Given the description of an element on the screen output the (x, y) to click on. 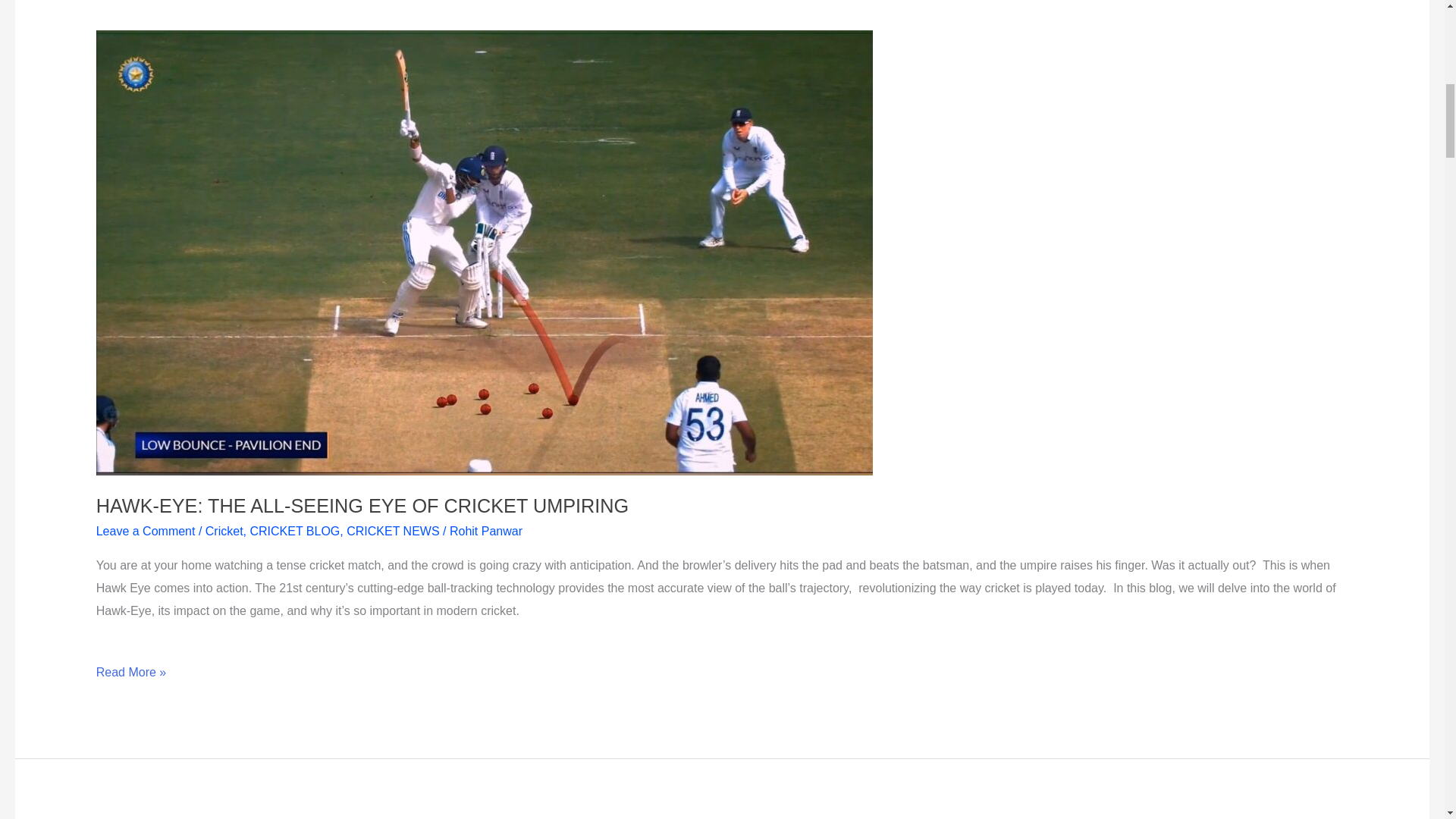
View all posts by Rohit Panwar (485, 530)
